Given the description of an element on the screen output the (x, y) to click on. 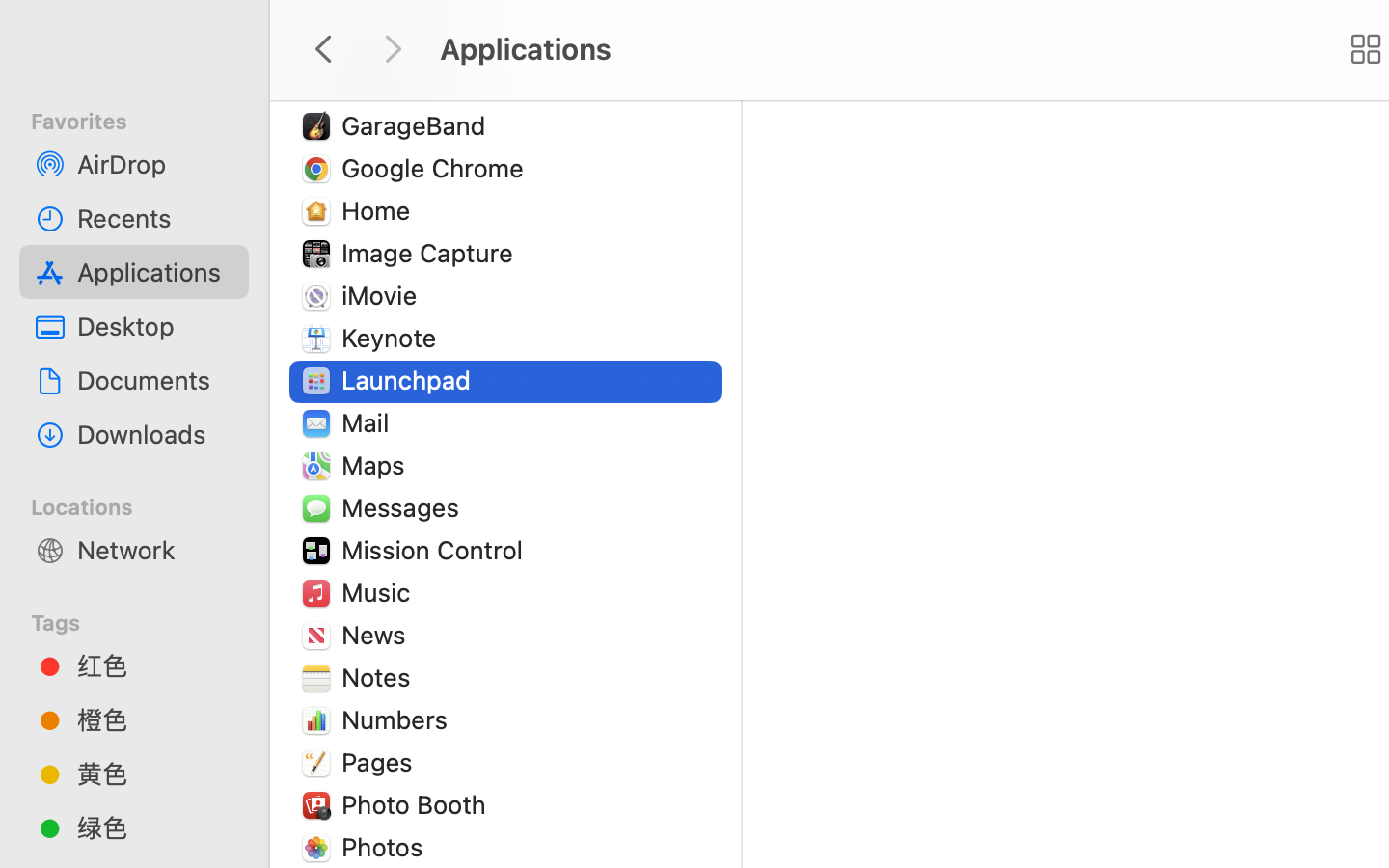
Documents Element type: AXStaticText (155, 379)
Mission Control Element type: AXTextField (436, 549)
Notes Element type: AXTextField (379, 676)
黄色 Element type: AXStaticText (155, 773)
Messages Element type: AXTextField (403, 506)
